Given the description of an element on the screen output the (x, y) to click on. 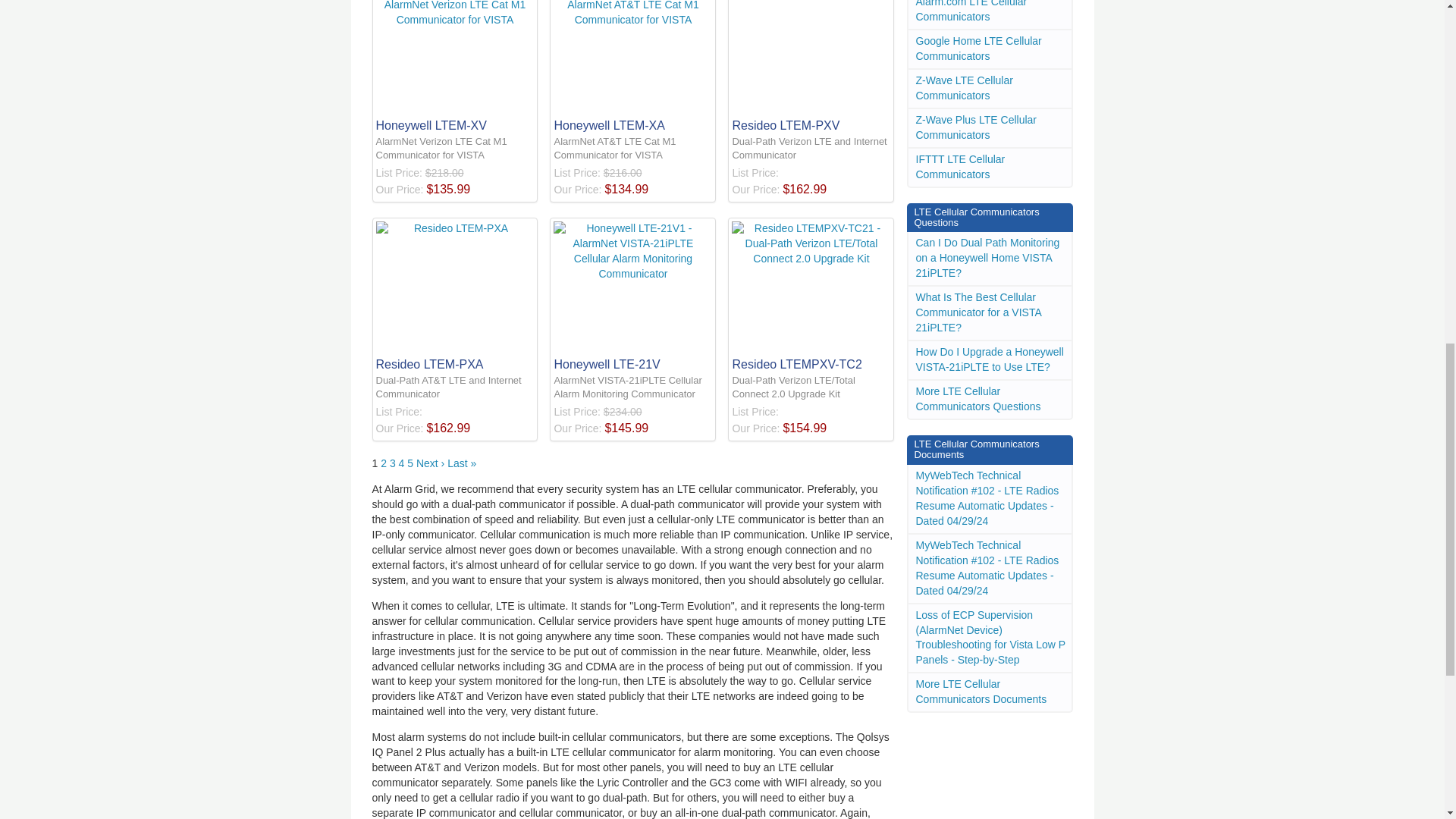
Resideo LTEM-PXA (454, 297)
Resideo LTEMPXV-TC2 (810, 297)
Honeywell LTE-21V (632, 297)
2 (383, 463)
Honeywell LTEM-XA (632, 67)
Honeywell LTEM-XV (454, 67)
Resideo LTEM-PXV (810, 67)
